Given the description of an element on the screen output the (x, y) to click on. 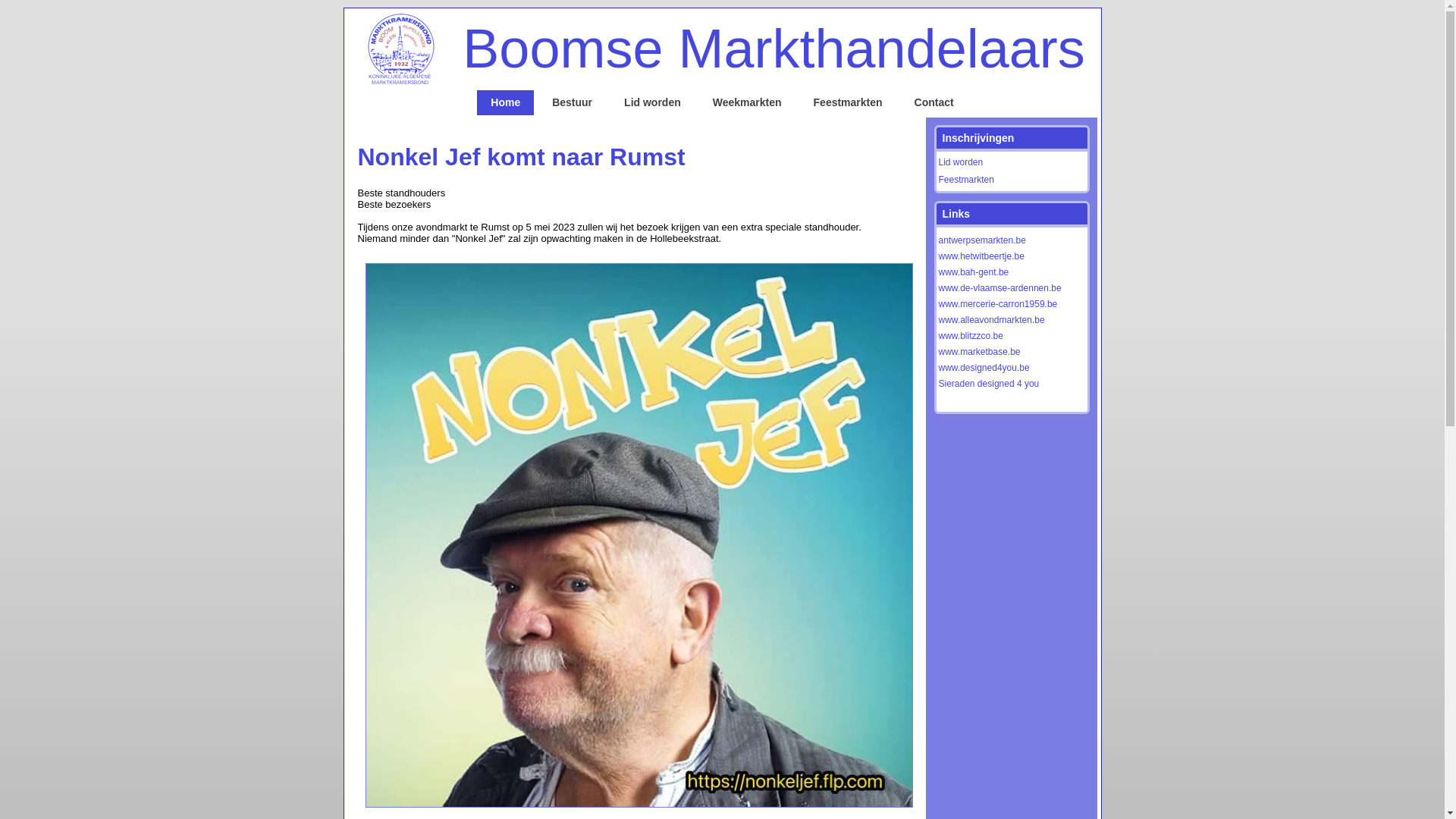
Bestuur Element type: text (571, 102)
Lid worden Element type: text (652, 102)
Feestmarkten Element type: text (966, 179)
Boomse Markthandelaars Element type: text (773, 48)
www.mercerie-carron1959.be Element type: text (997, 303)
Lid worden Element type: text (960, 161)
Feestmarkten Element type: text (848, 102)
www.blitzzco.be Element type: text (970, 335)
www.hetwitbeertje.be Element type: text (981, 255)
www.de-vlaamse-ardennen.be Element type: text (999, 287)
antwerpsemarkten.be Element type: text (982, 240)
Contact Element type: text (933, 102)
Weekmarkten Element type: text (747, 102)
www.marketbase.be Element type: text (979, 350)
Home Element type: text (504, 102)
www.alleavondmarkten.be Element type: text (991, 318)
Sieraden designed 4 you Element type: text (988, 382)
www.designed4you.be Element type: text (983, 367)
www.bah-gent.be Element type: text (973, 271)
